Given the description of an element on the screen output the (x, y) to click on. 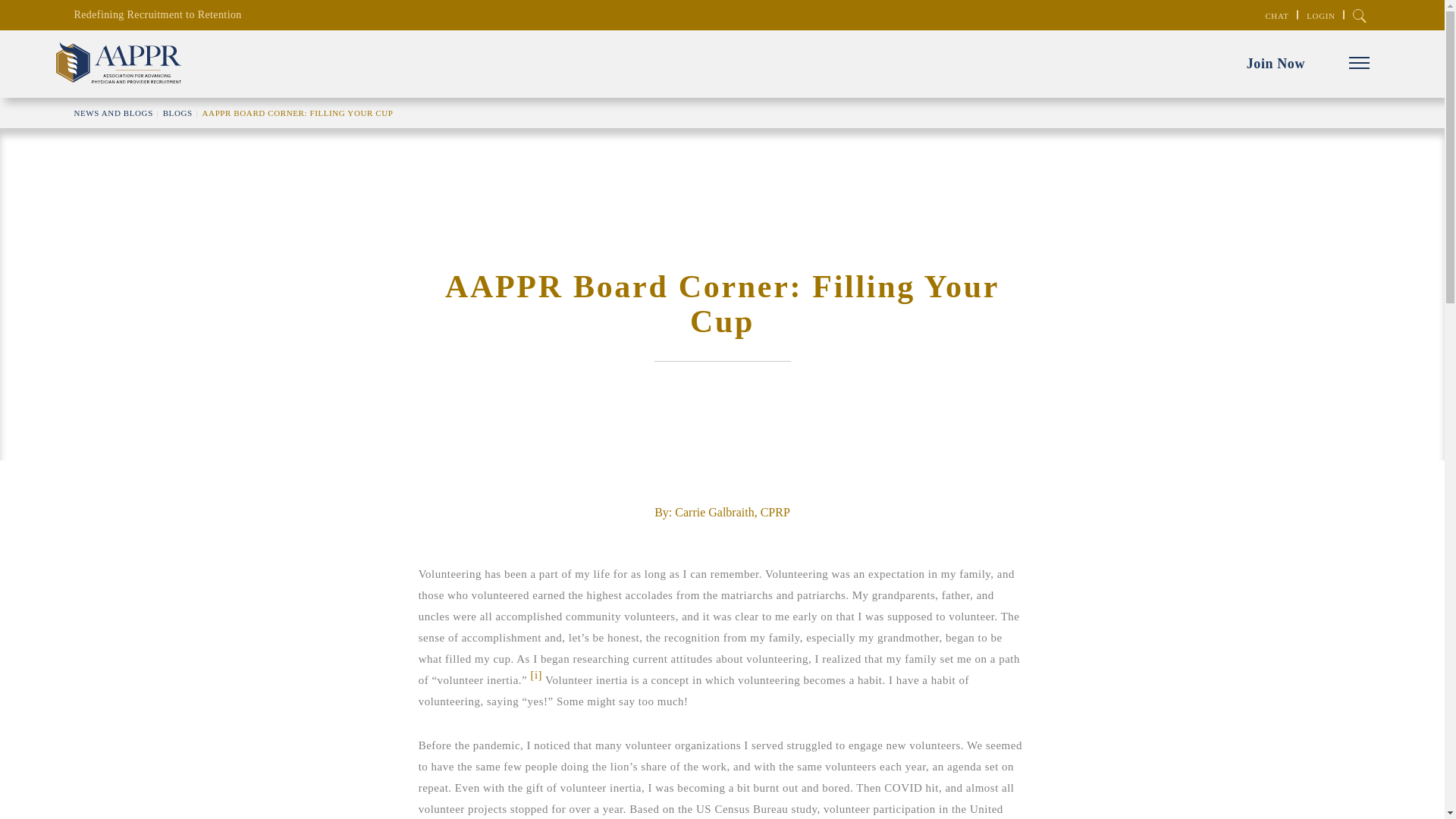
Go to AAPPR Board Corner: Filling Your Cup. (297, 112)
Go to the Blogs category archives. (177, 112)
CHAT (1276, 14)
Join Now (1275, 63)
LOGIN (1320, 14)
Go to the News and Blogs category archives. (113, 112)
